Given the description of an element on the screen output the (x, y) to click on. 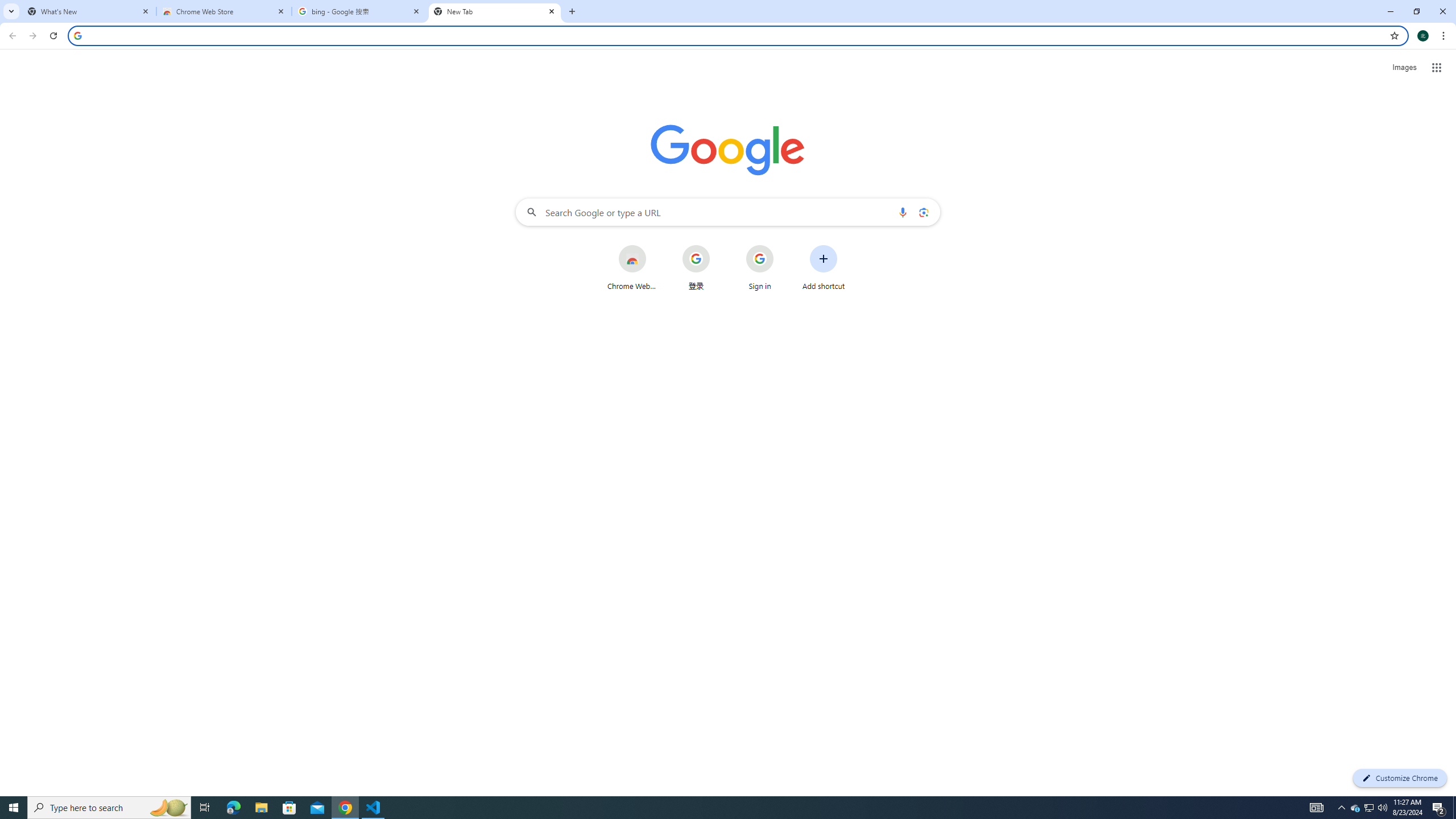
Chrome Web Store (631, 267)
What's New (88, 11)
New Tab (494, 11)
